Given the description of an element on the screen output the (x, y) to click on. 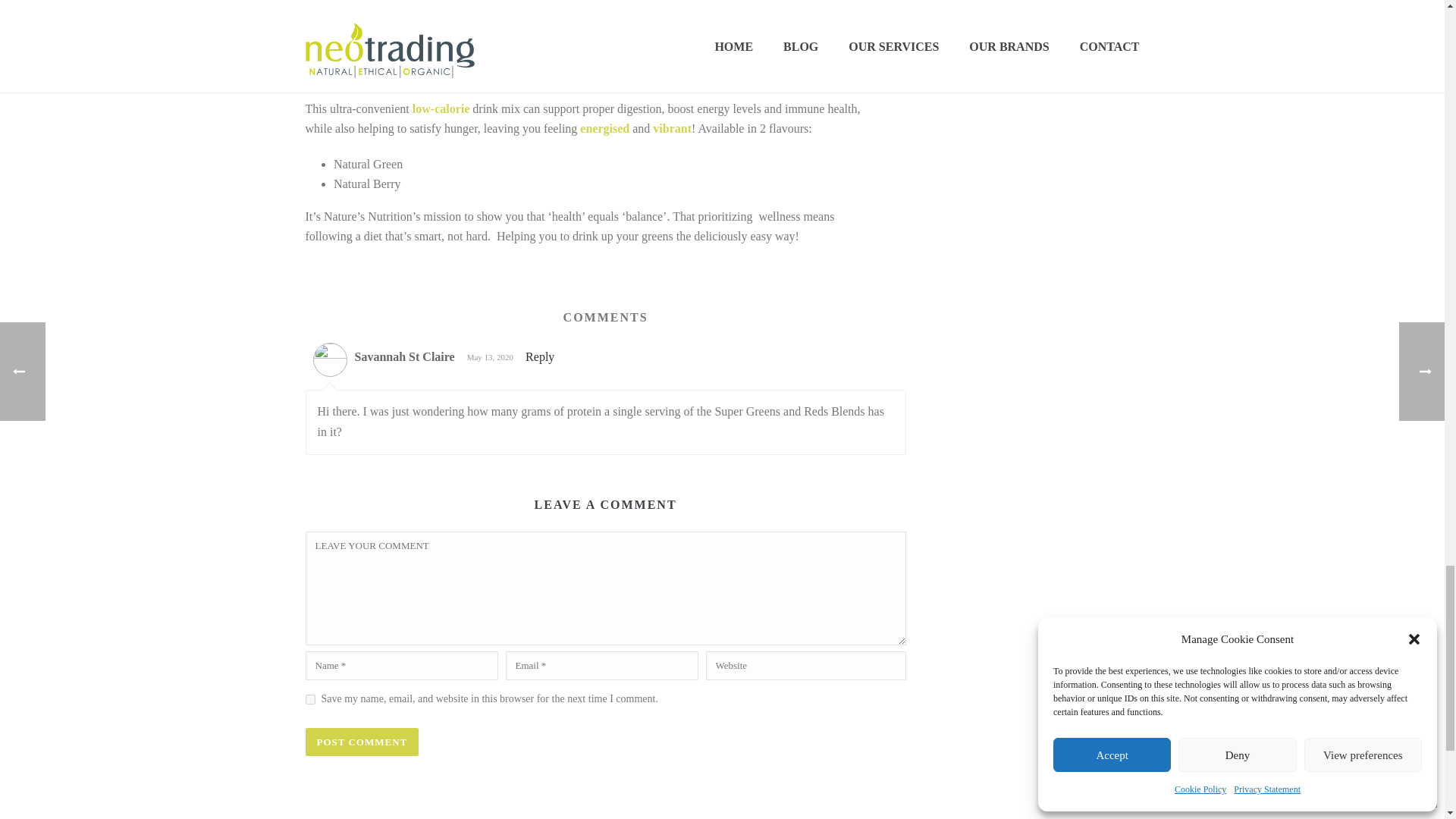
Reply (539, 356)
yes (309, 699)
POST COMMENT (361, 741)
POST COMMENT (361, 741)
